Given the description of an element on the screen output the (x, y) to click on. 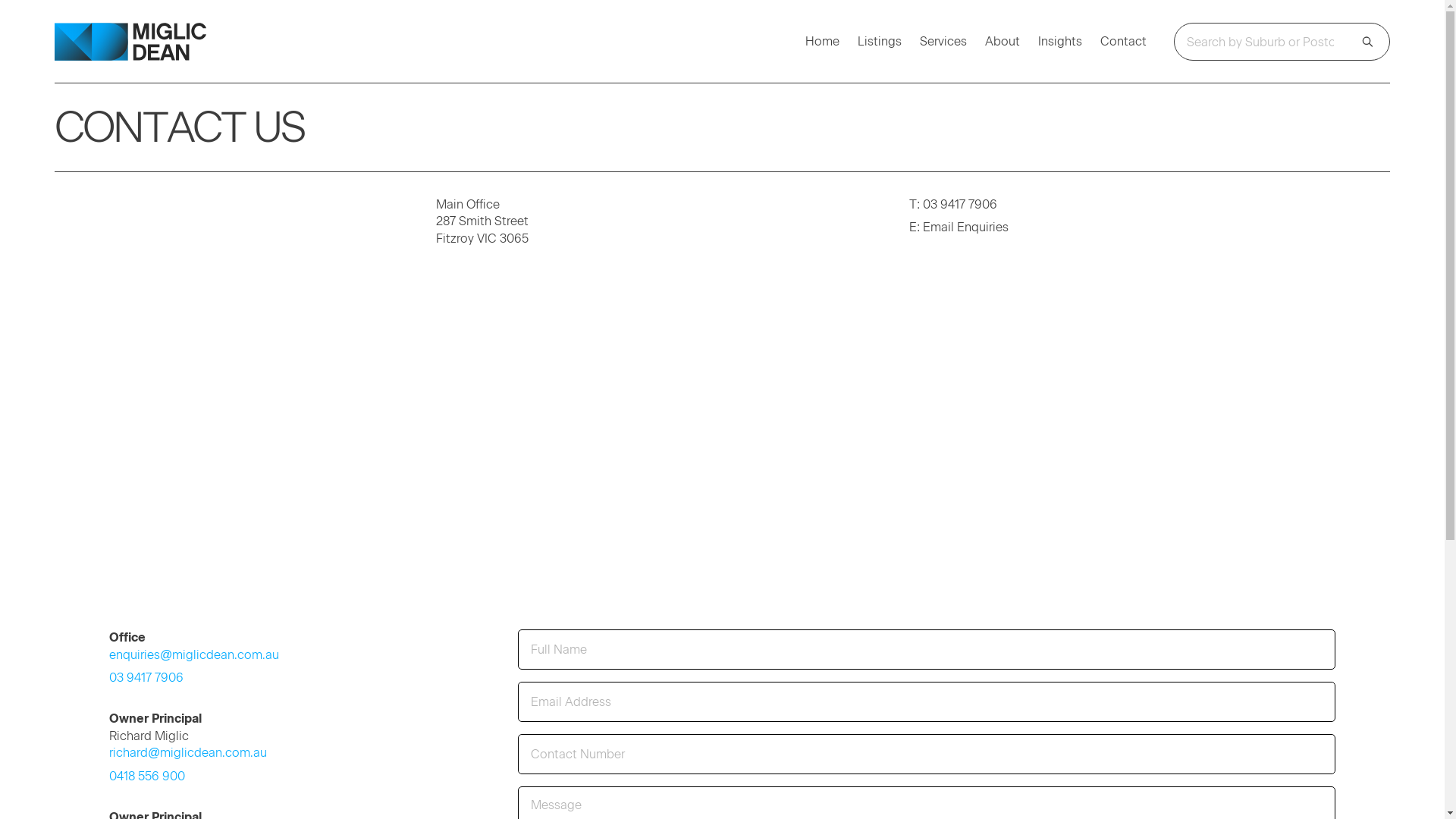
03 9417 7906 Element type: text (146, 677)
enquiries@miglicdean.com.au Element type: text (194, 654)
Email Enquiries Element type: text (965, 227)
03 9417 7906 Element type: text (959, 204)
Home Element type: text (822, 41)
richard@miglicdean.com.au Element type: text (187, 752)
Contact Element type: text (1123, 41)
0418 556 900 Element type: text (147, 775)
About Element type: text (1002, 41)
